Given the description of an element on the screen output the (x, y) to click on. 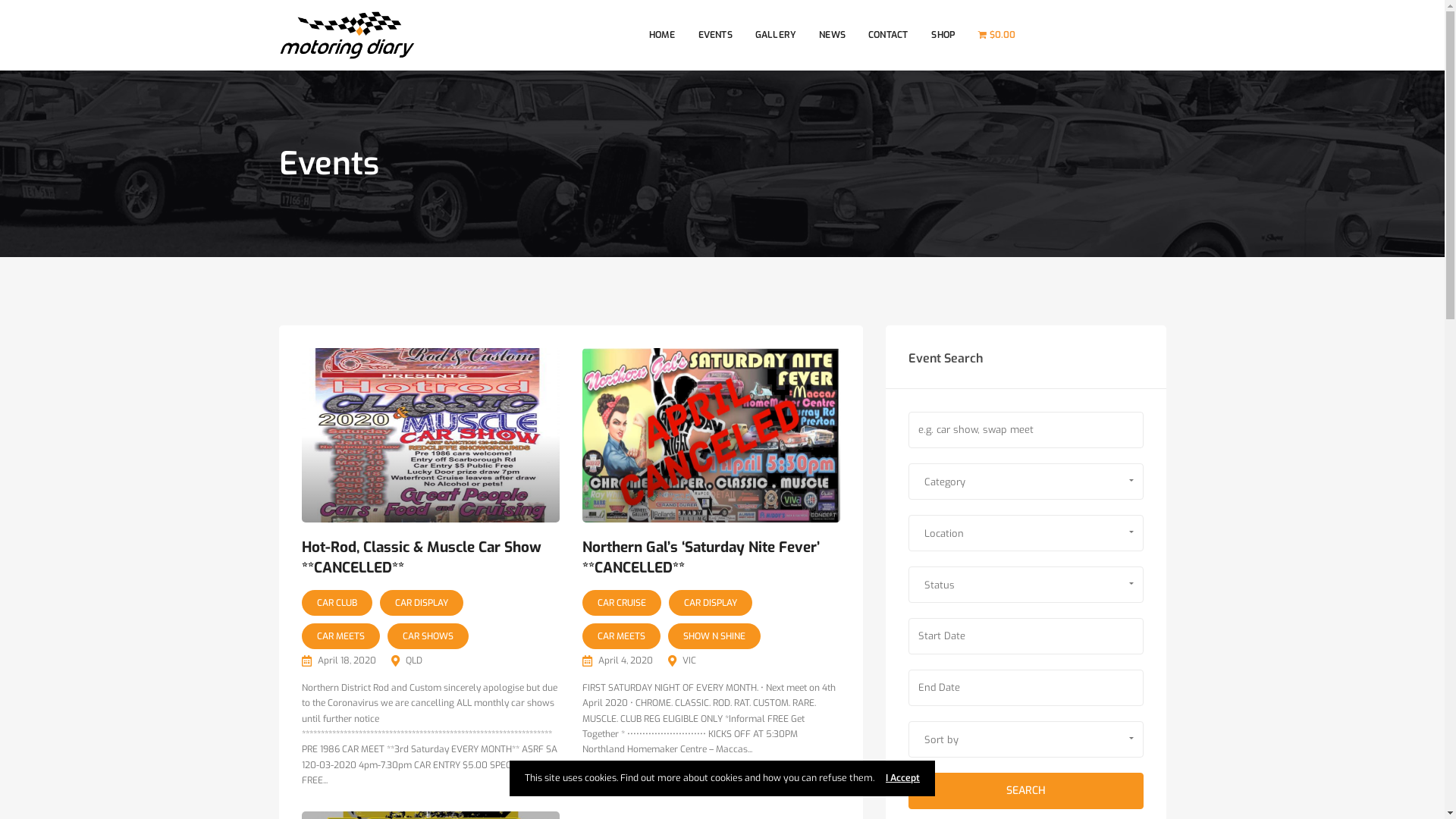
CAR MEETS Element type: text (621, 635)
CAR CRUISE Element type: text (621, 602)
I Accept Element type: text (902, 777)
CAR CLUB Element type: text (336, 602)
Hot-Rod, Classic & Muscle Car Show **CANCELLED** Element type: hover (430, 435)
Instagram Element type: hover (1085, 35)
Category Element type: text (1025, 481)
SEARCH Element type: text (1025, 790)
Status Element type: text (1025, 584)
CAR MEETS Element type: text (340, 635)
Motoring Diary Element type: hover (347, 34)
HOME Element type: text (662, 34)
SHOP Element type: text (942, 34)
QLD Element type: text (412, 660)
EVENTS Element type: text (715, 34)
VIC Element type: text (689, 660)
CONTACT Element type: text (887, 34)
CAR DISPLAY Element type: text (710, 602)
NEWS Element type: text (831, 34)
Location Element type: text (1025, 532)
CAR SHOWS Element type: text (426, 635)
$0.00 Element type: text (996, 34)
Sort by Element type: text (1025, 739)
Twitter Element type: hover (1111, 35)
Hot-Rod, Classic & Muscle Car Show **CANCELLED** Element type: text (421, 557)
GALLERY Element type: text (775, 34)
Facebook Element type: hover (1058, 35)
SHOW N SHINE Element type: text (713, 635)
CAR DISPLAY Element type: text (420, 602)
